Given the description of an element on the screen output the (x, y) to click on. 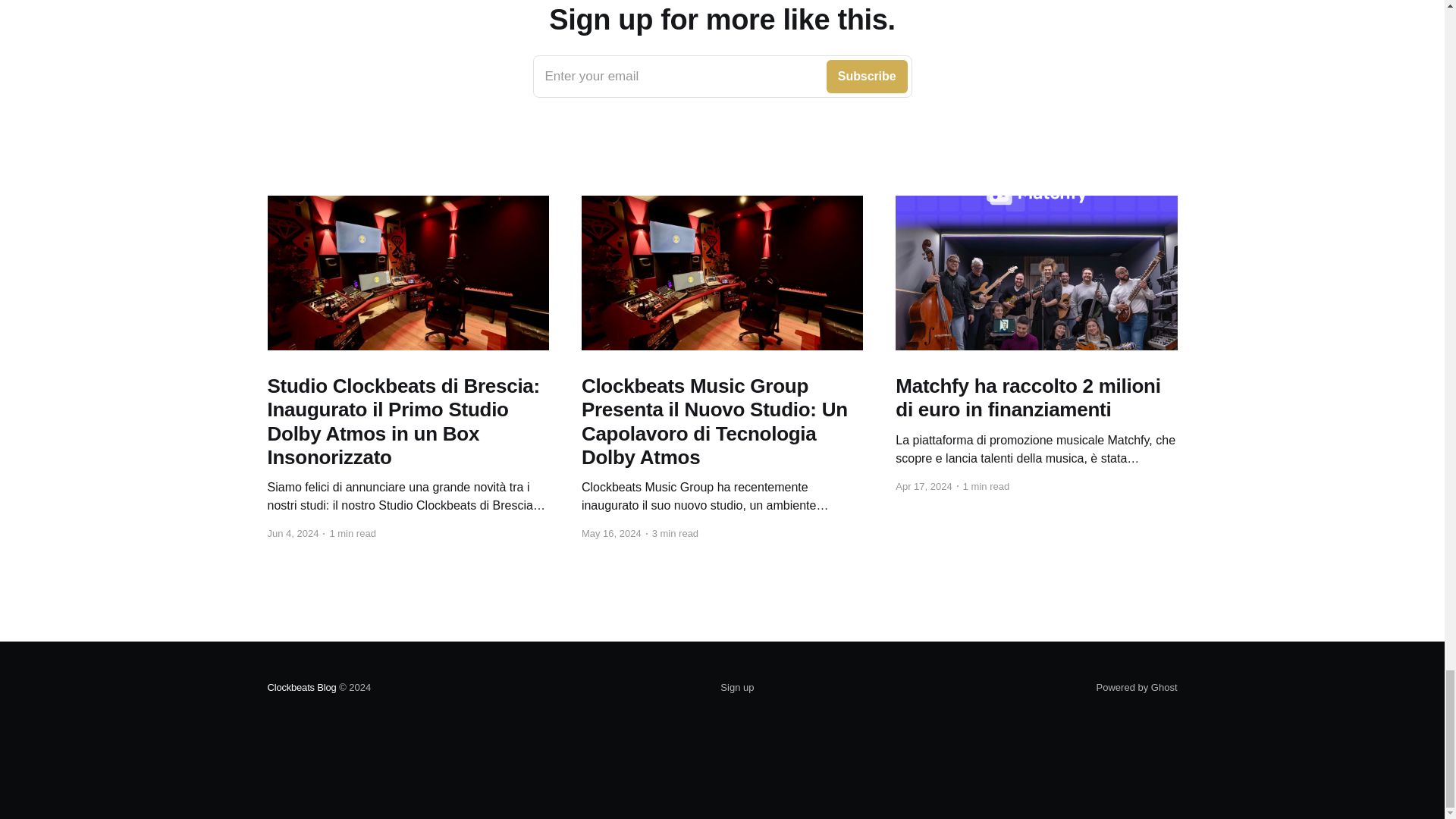
Powered by Ghost (1136, 686)
Clockbeats Blog (301, 686)
Sign up (721, 76)
